Given the description of an element on the screen output the (x, y) to click on. 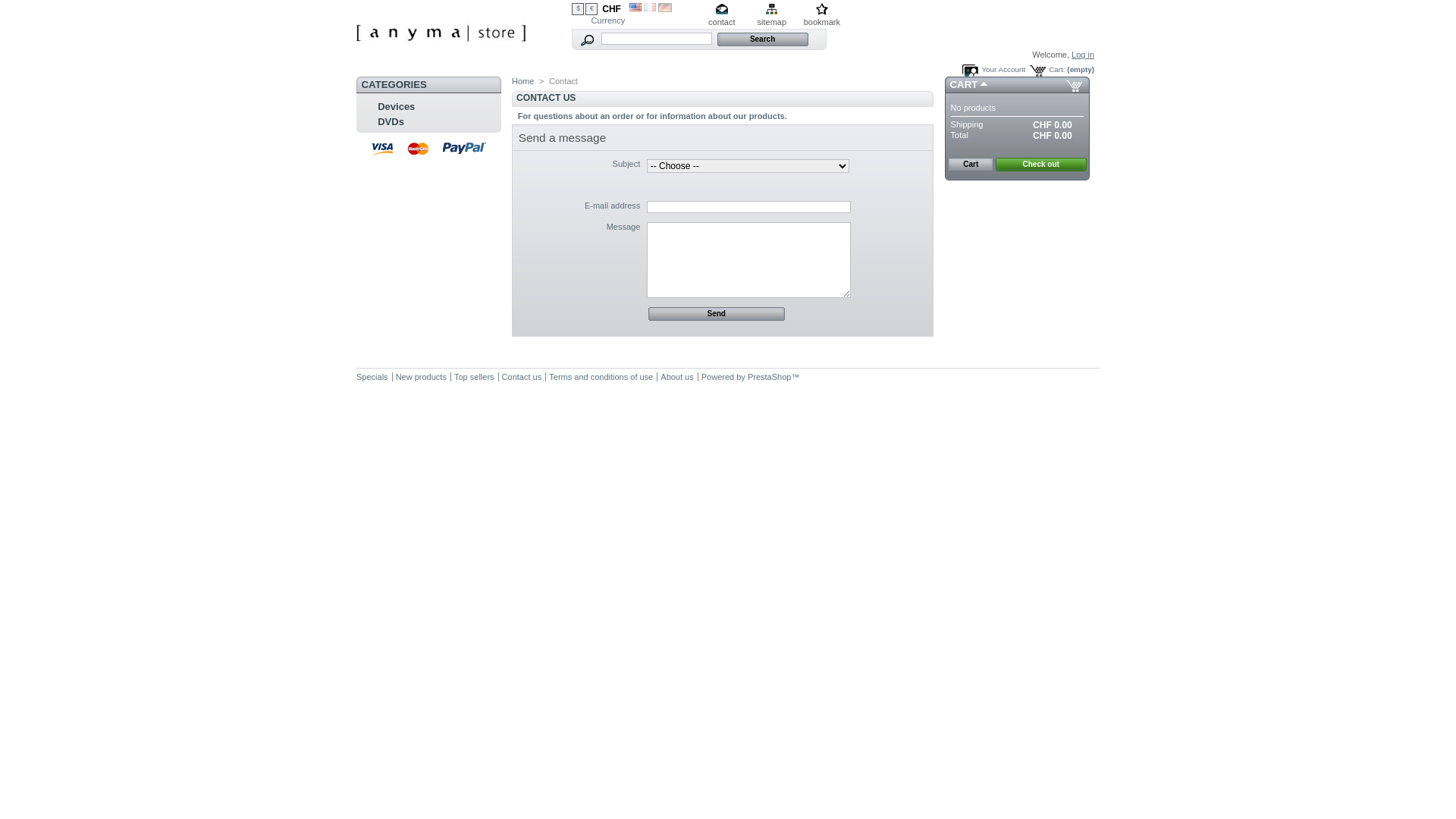
Search Element type: text (762, 39)
Cart Element type: text (970, 164)
Terms and conditions of use Element type: text (600, 376)
New products Element type: text (420, 376)
Your Account Element type: text (993, 69)
$ Element type: text (577, 8)
Log in Element type: text (1082, 54)
PrestaShop Element type: text (768, 376)
bookmark Element type: text (822, 15)
Devices Element type: text (395, 106)
Deutsch Element type: hover (664, 8)
About us Element type: text (676, 376)
DVDs Element type: text (390, 121)
sitemap Element type: text (771, 15)
Specials Element type: text (372, 376)
Contact us Element type: text (522, 376)
Cart: Element type: text (1046, 69)
contact Element type: text (721, 15)
Check out Element type: text (1040, 164)
[ a n y m a | store ] Element type: hover (441, 57)
Home Element type: text (522, 80)
CART Element type: text (964, 84)
CHF Element type: text (611, 9)
Send Element type: text (716, 313)
Top sellers Element type: text (474, 376)
